Given the description of an element on the screen output the (x, y) to click on. 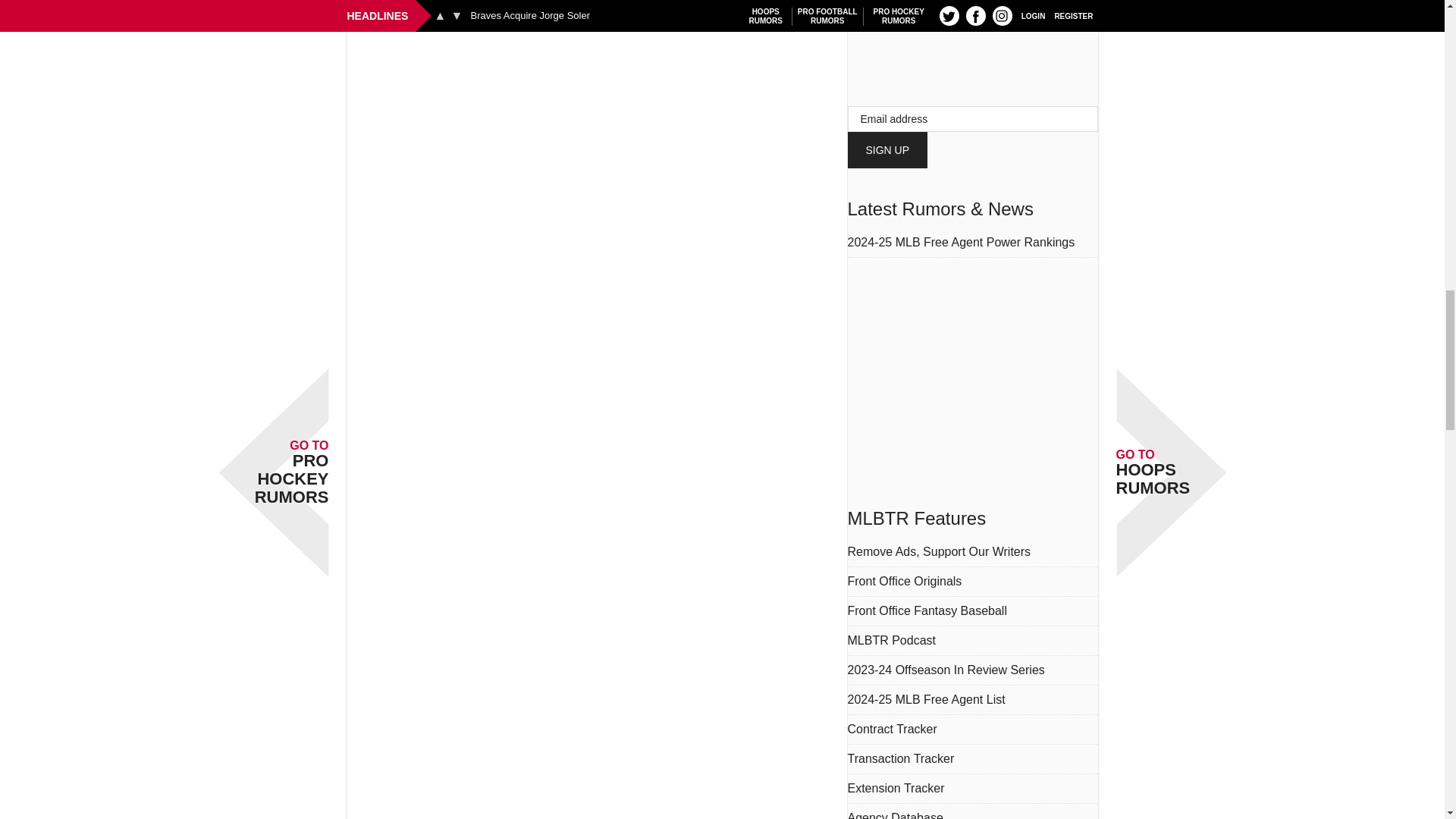
Sign Up (887, 149)
